Given the description of an element on the screen output the (x, y) to click on. 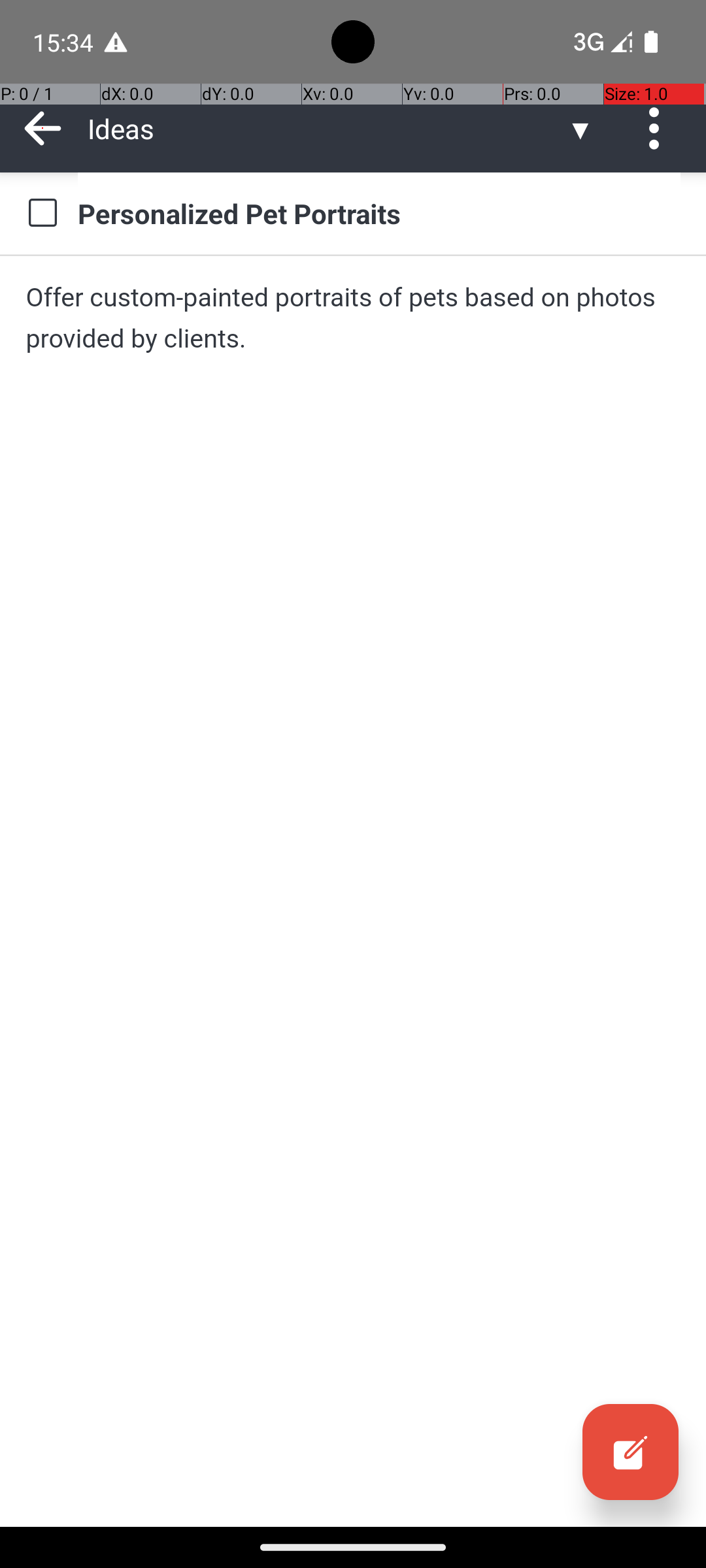
Personalized Pet Portraits Element type: android.widget.EditText (378, 213)
Offer custom-painted portraits of pets based on photos provided by clients. Element type: android.widget.TextView (352, 317)
